Given the description of an element on the screen output the (x, y) to click on. 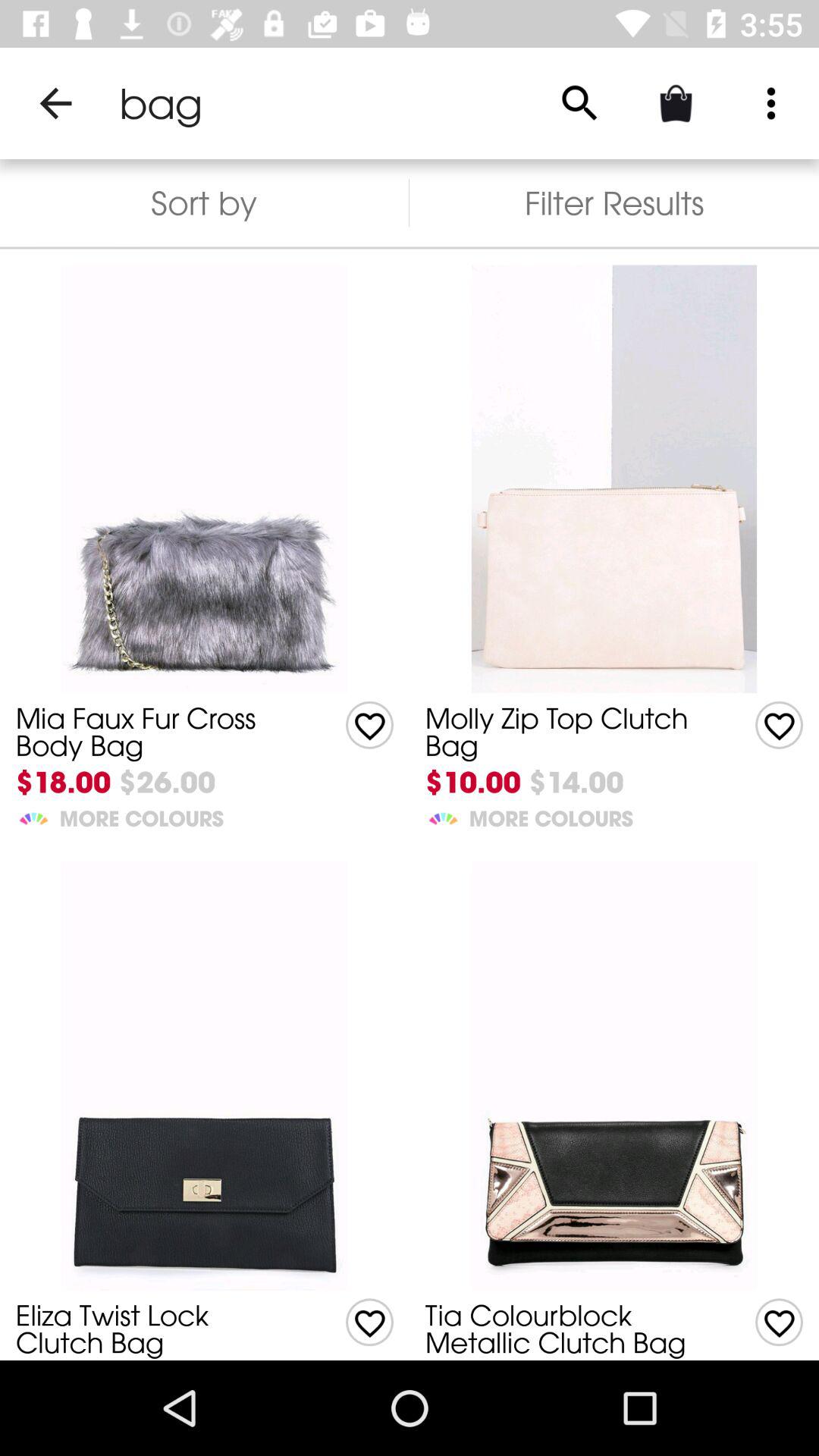
open icon above the filter results item (579, 103)
